Given the description of an element on the screen output the (x, y) to click on. 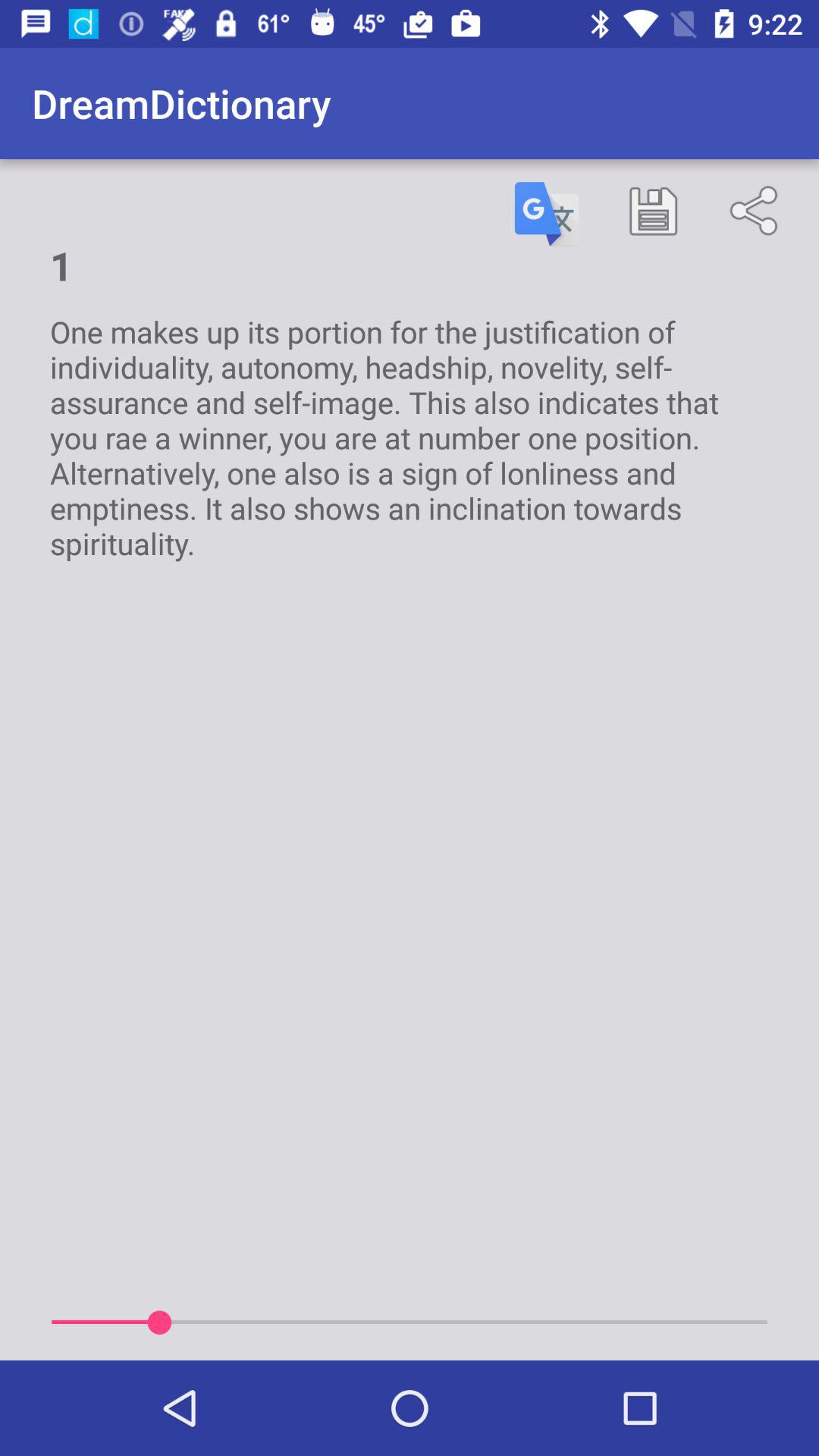
select the item above the one makes up icon (546, 214)
